Given the description of an element on the screen output the (x, y) to click on. 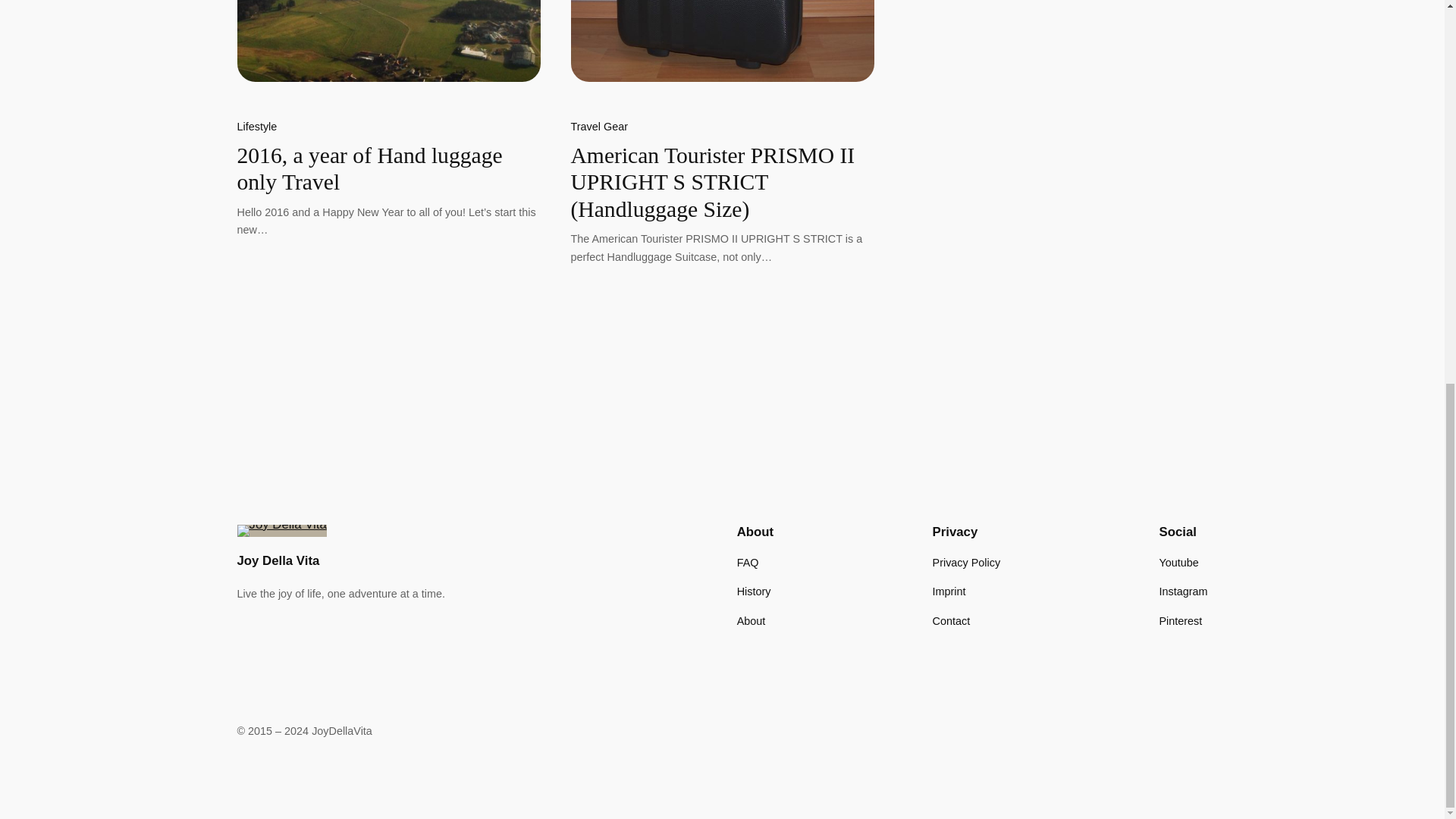
2016, a year of Hand luggage only Travel 1 (387, 40)
